Given the description of an element on the screen output the (x, y) to click on. 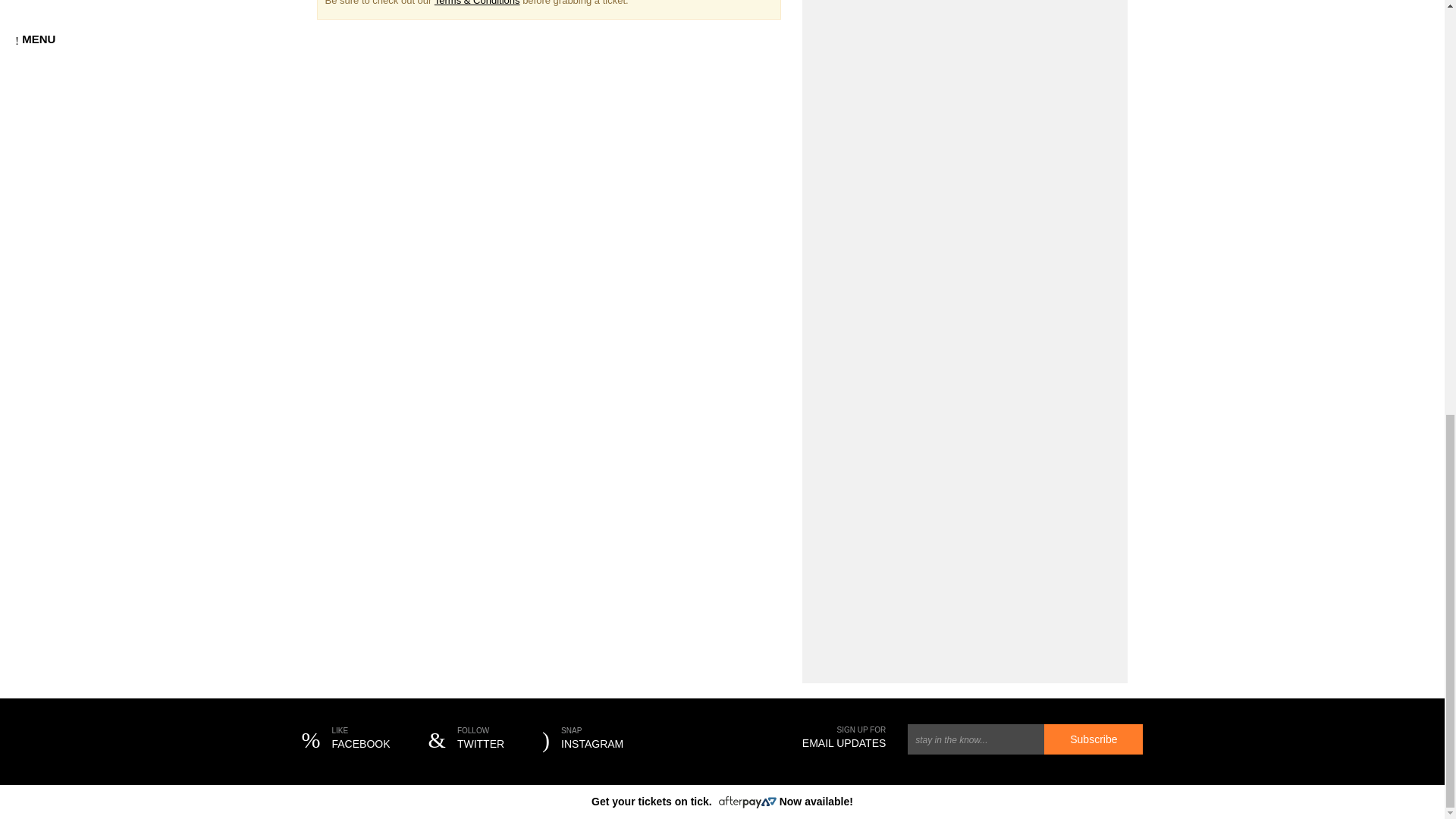
Subscribe (582, 739)
Subscribe (345, 739)
